Given the description of an element on the screen output the (x, y) to click on. 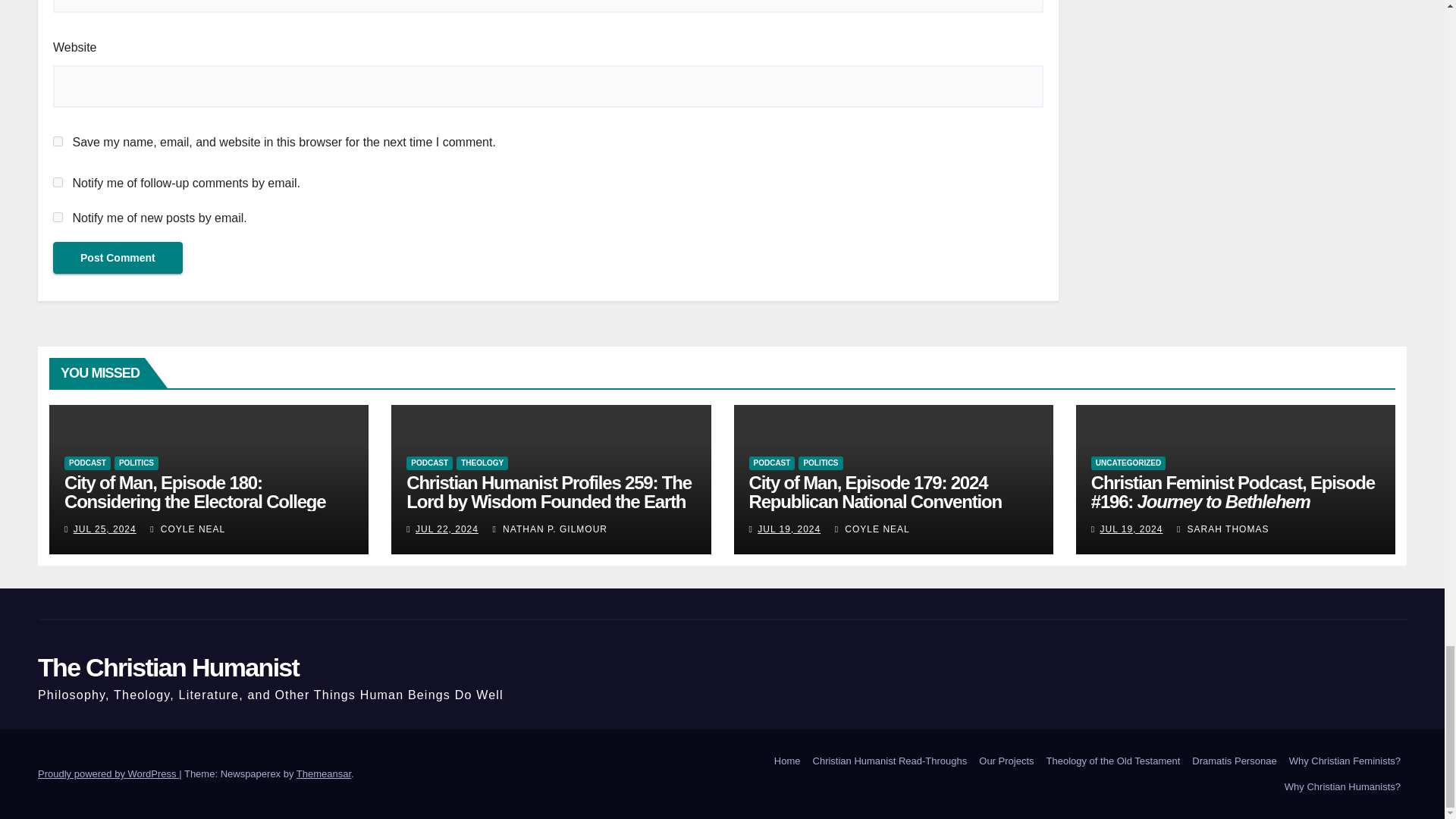
subscribe (57, 216)
subscribe (57, 182)
yes (57, 141)
Post Comment (117, 257)
